Given the description of an element on the screen output the (x, y) to click on. 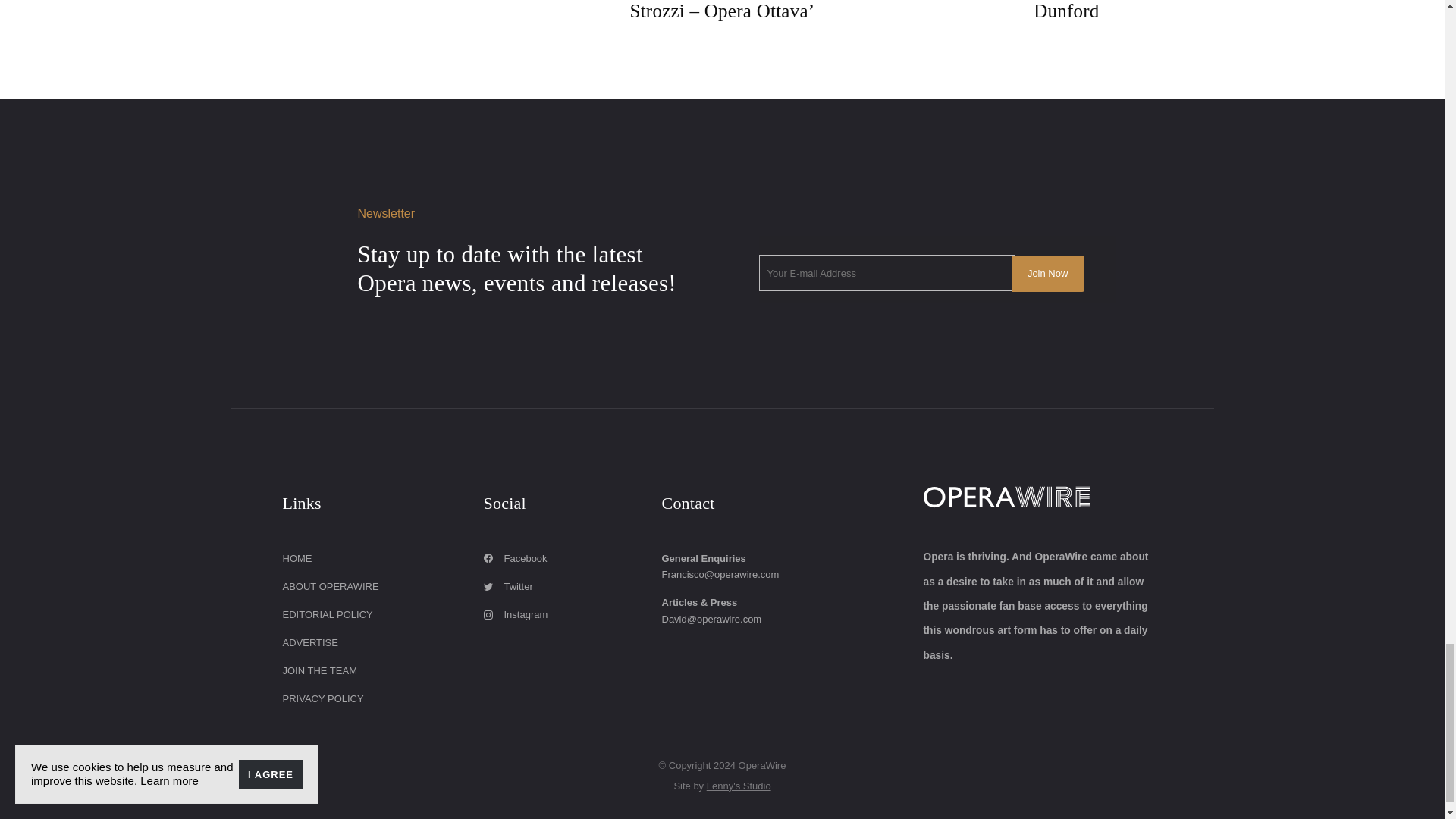
Join Now (1047, 273)
